Given the description of an element on the screen output the (x, y) to click on. 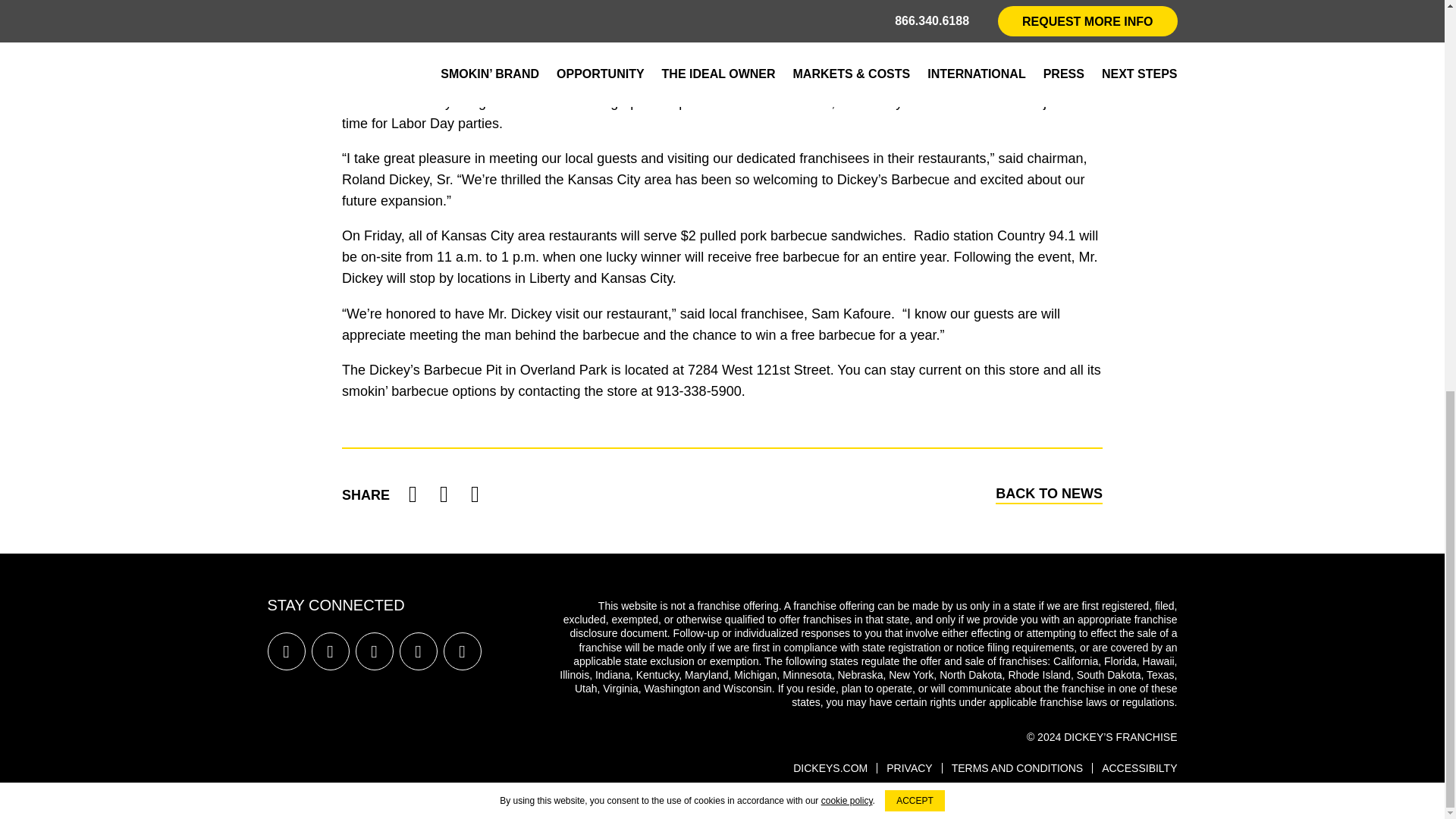
cookie policy (846, 54)
Icon - Facebook (285, 651)
Icon - Linkedin (461, 651)
DICKEYS.COM (830, 767)
TERMS AND CONDITIONS (1017, 767)
ACCESSIBILTY (1139, 767)
Icon - Twitter (374, 651)
Icon - Youtube (417, 651)
PRIVACY (908, 767)
BACK TO NEWS (1048, 493)
